Given the description of an element on the screen output the (x, y) to click on. 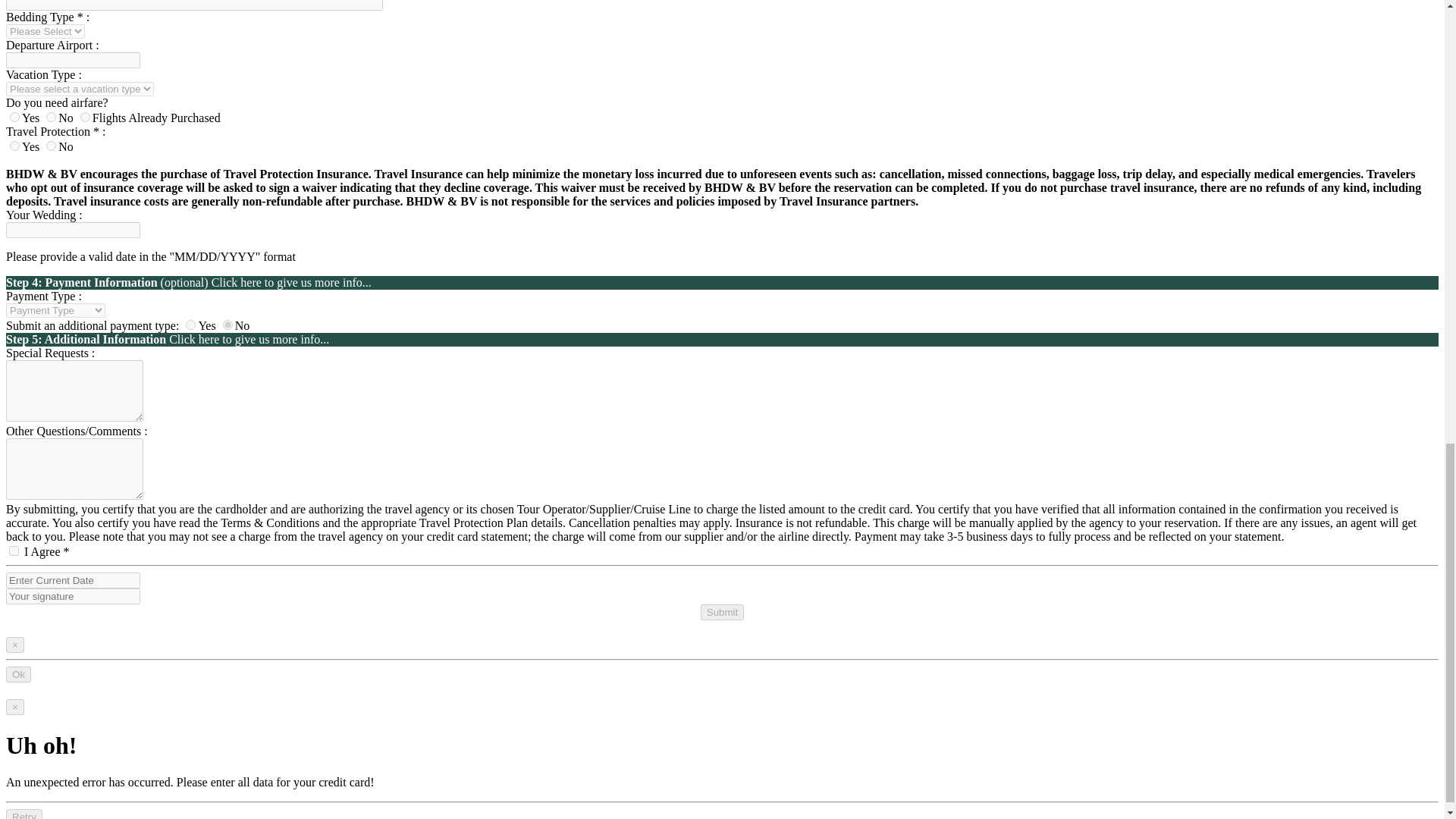
Ok (17, 674)
Submit (722, 611)
